Given the description of an element on the screen output the (x, y) to click on. 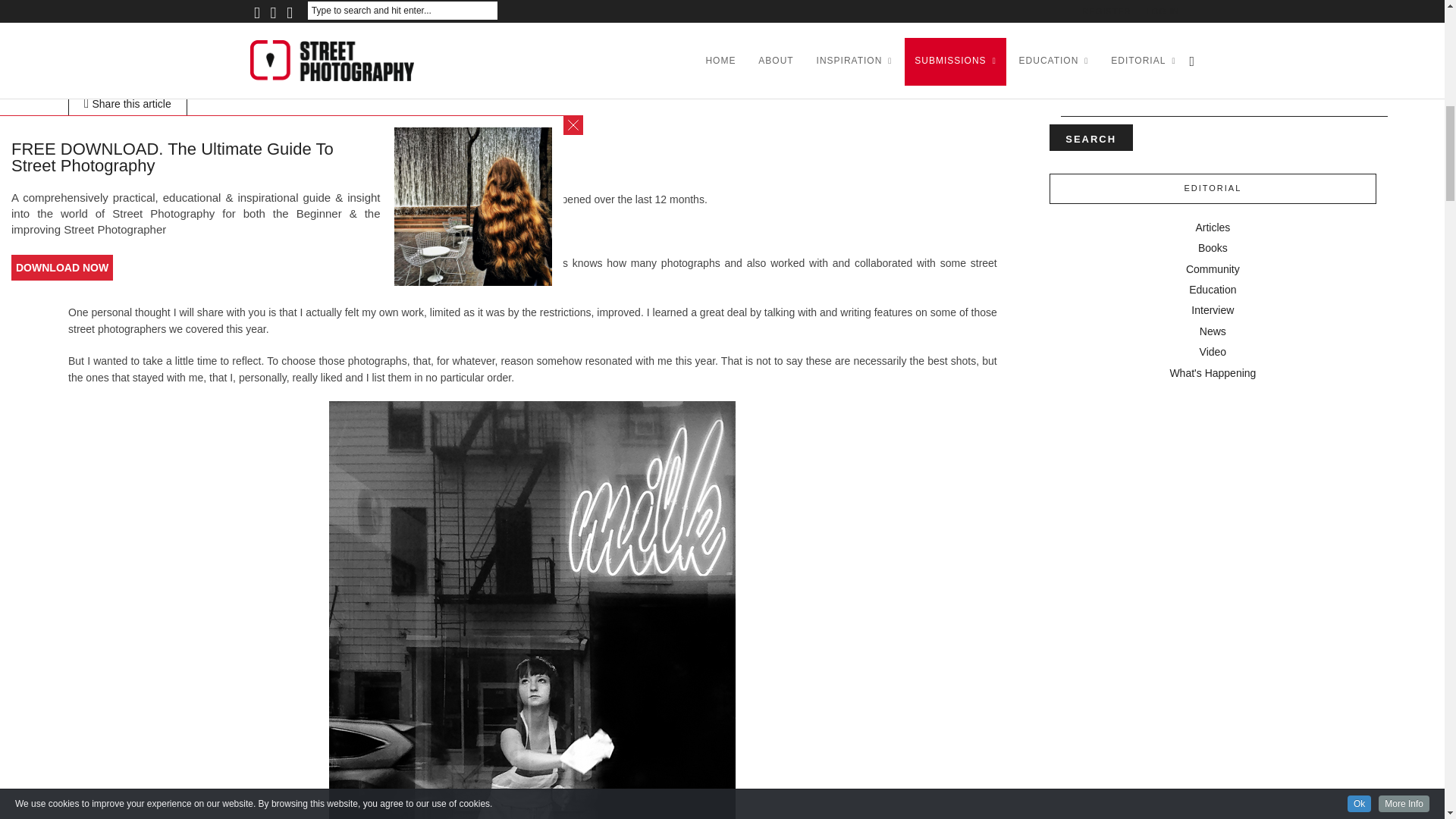
Search (1090, 137)
